Given the description of an element on the screen output the (x, y) to click on. 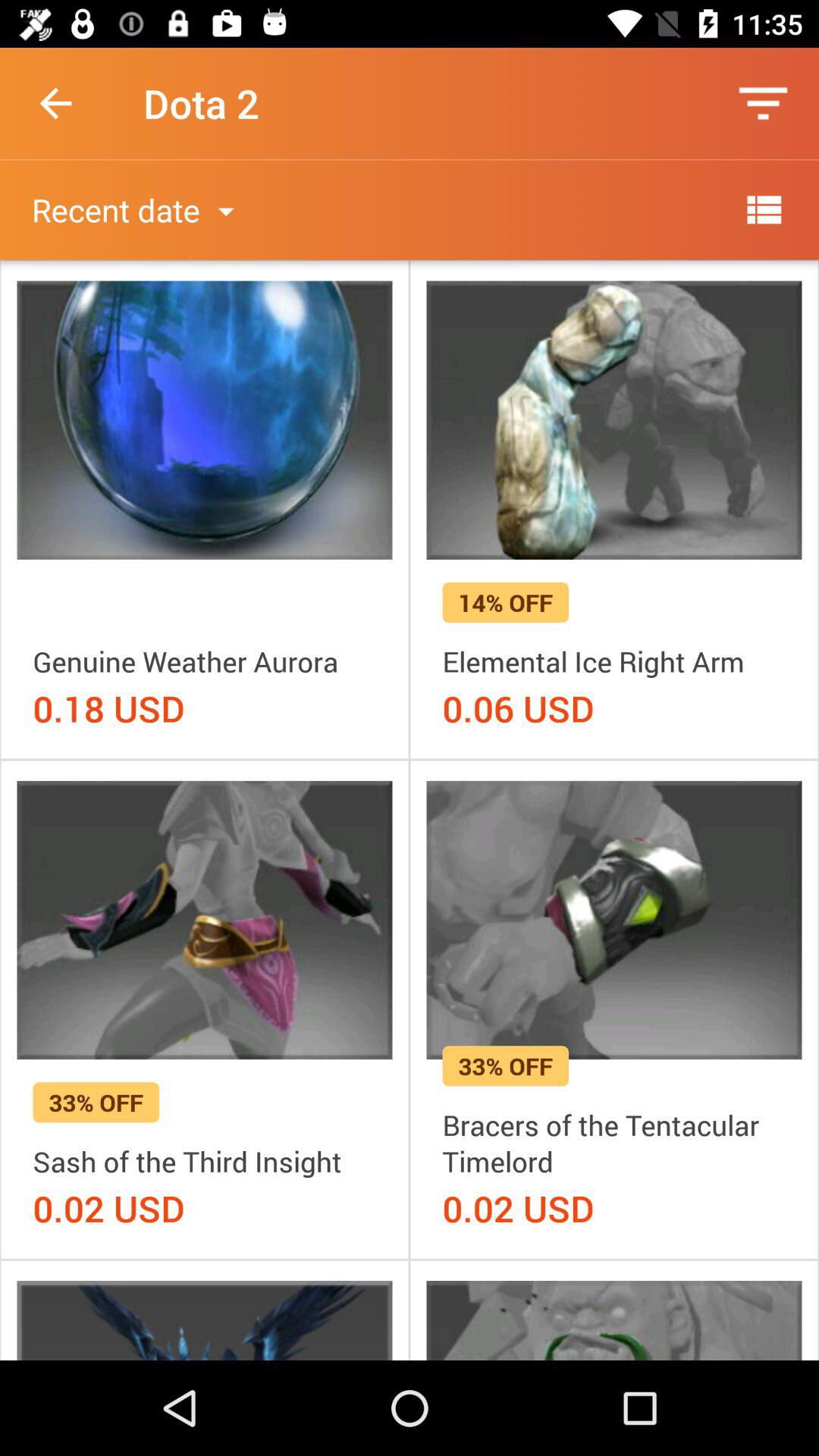
open the side menu (763, 209)
